Given the description of an element on the screen output the (x, y) to click on. 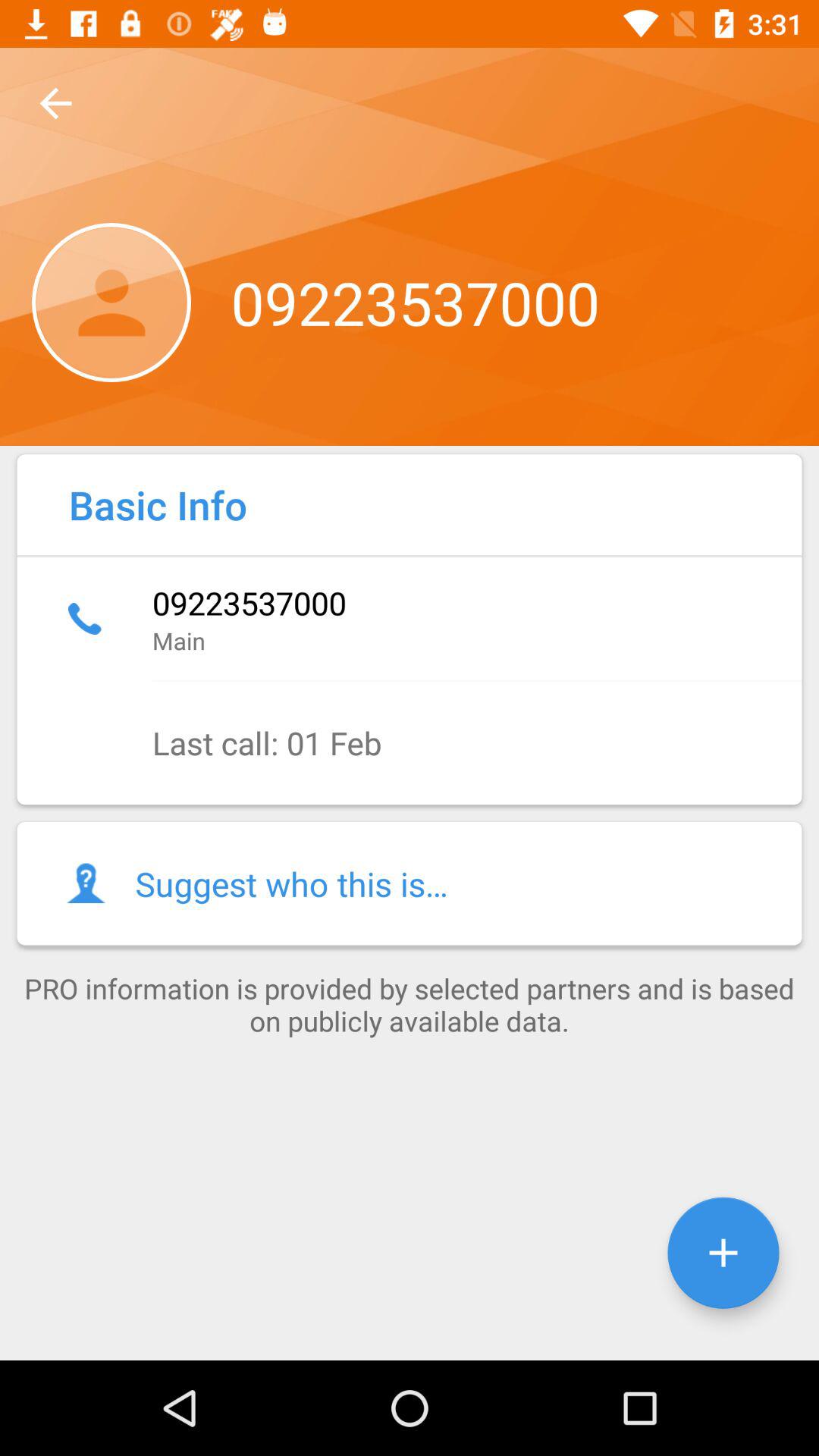
turn on last call 01 item (409, 742)
